Given the description of an element on the screen output the (x, y) to click on. 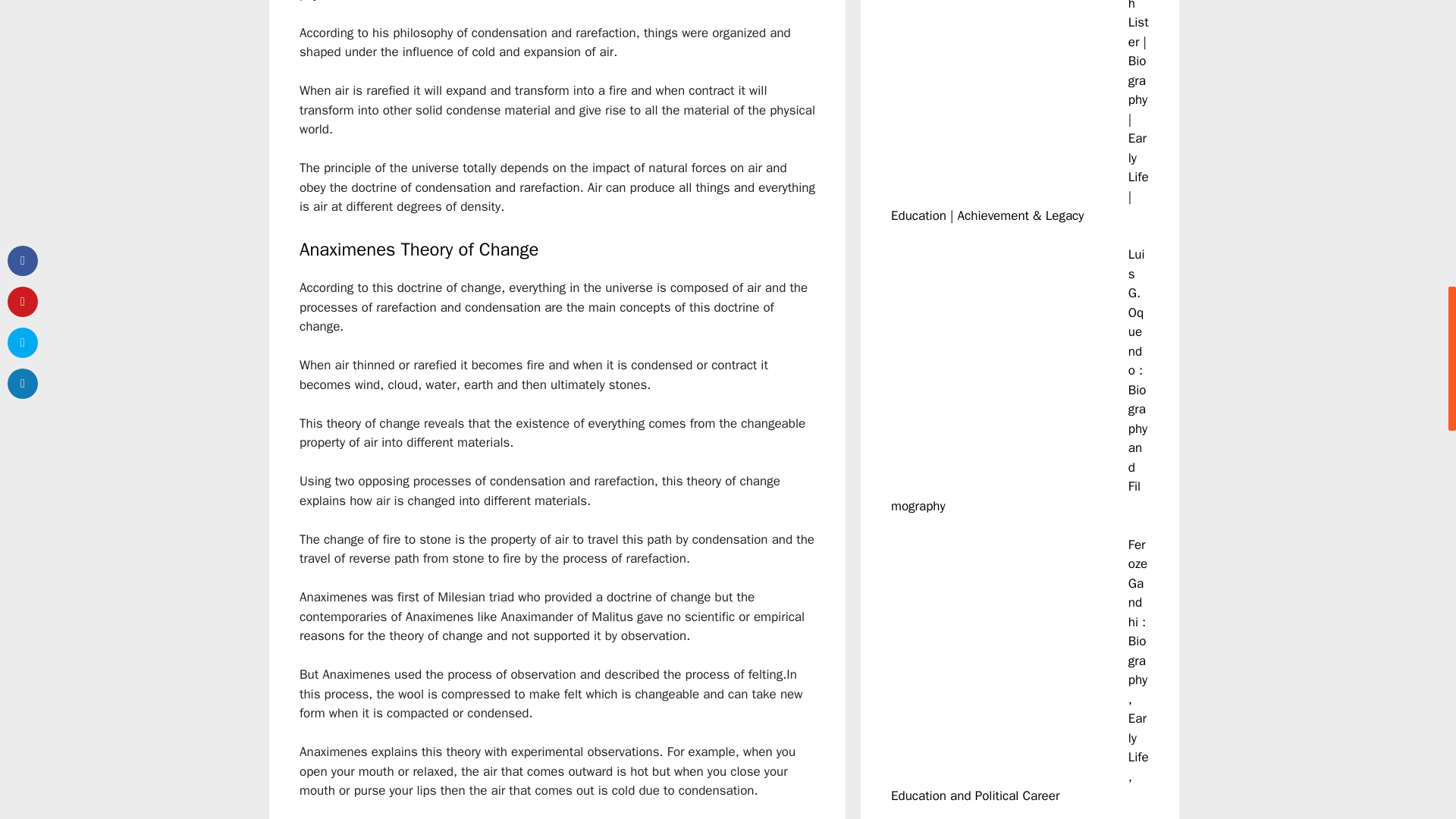
Luis G. Oquendo : Biography and Filmography (1019, 380)
